Given the description of an element on the screen output the (x, y) to click on. 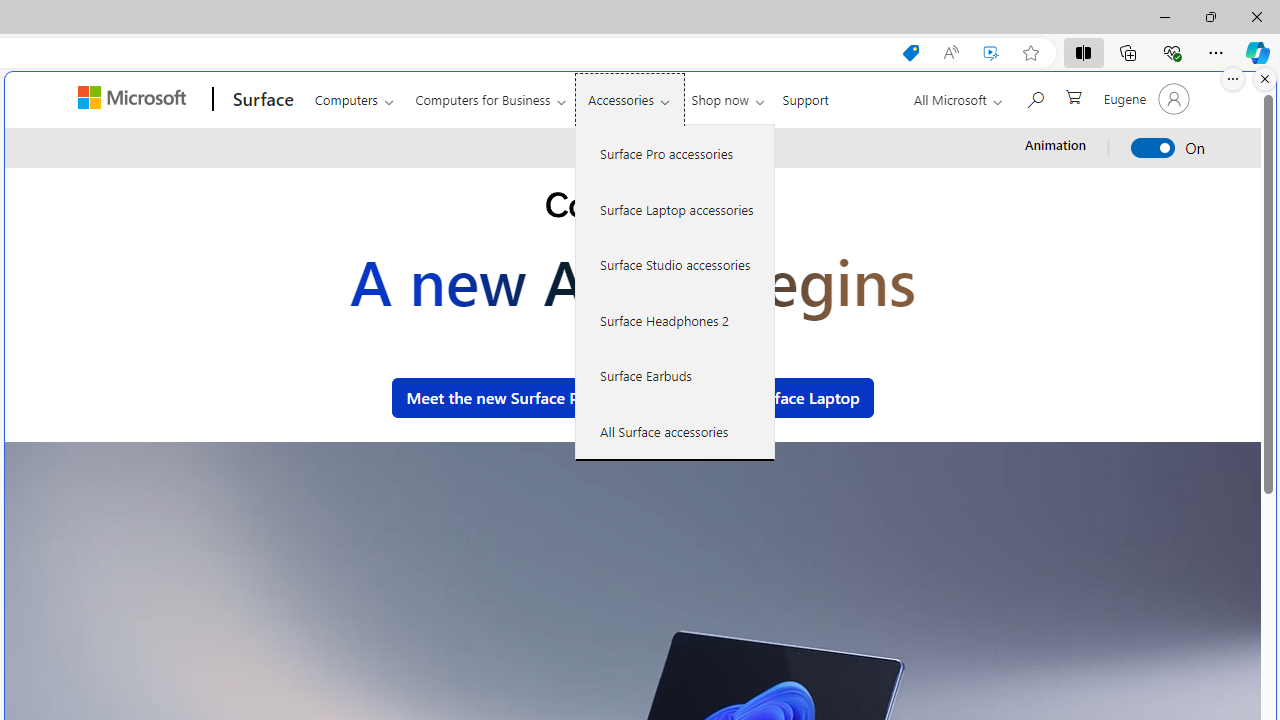
Surface Earbuds (675, 375)
Surface Pro accessories (675, 153)
Meet the new Surface Pro (499, 397)
All Surface accessories (675, 431)
Microsoft (135, 99)
Search Microsoft.com (1034, 97)
Surface Headphones 2 (675, 319)
Surface Laptop accessories (675, 208)
